Given the description of an element on the screen output the (x, y) to click on. 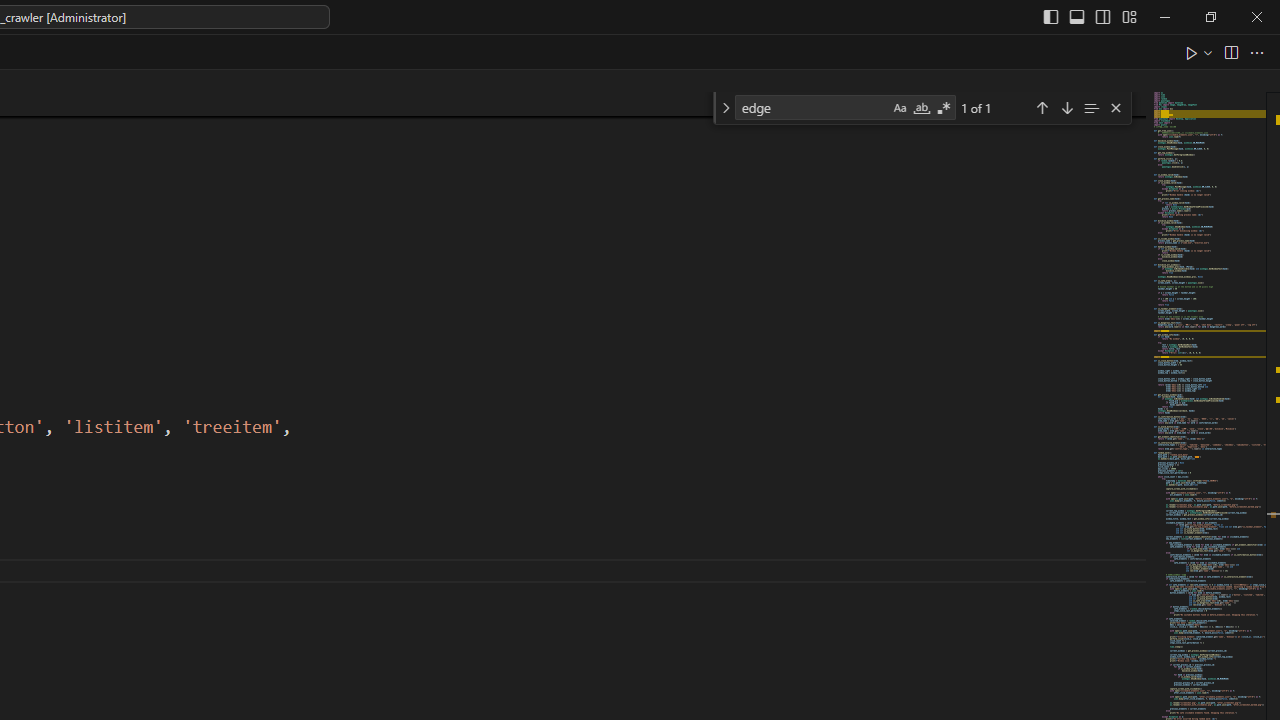
Toggle Secondary Side Bar (Ctrl+Alt+B) (1102, 16)
Previous Match (Shift+Enter) (1041, 106)
Customize Layout... (1128, 16)
Toggle Panel (Ctrl+J) (1077, 16)
Match Case (Alt+C) (899, 107)
Toggle Replace (725, 107)
Find in Selection (Alt+L) (1091, 106)
